Given the description of an element on the screen output the (x, y) to click on. 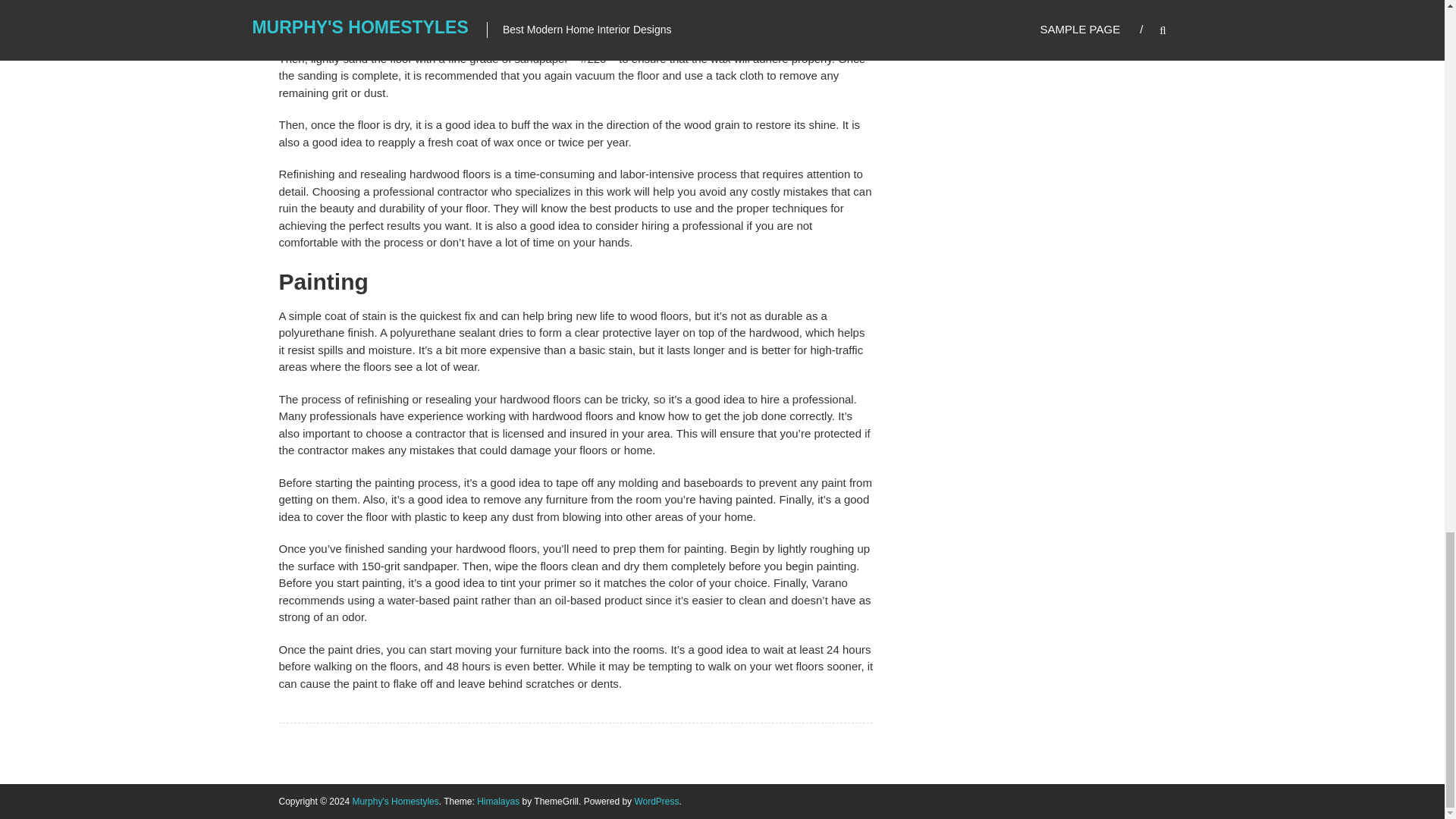
Murphy's Homestyles (395, 801)
Himalayas (498, 801)
Murphy's Homestyles (395, 801)
WordPress (655, 801)
WordPress (655, 801)
Himalayas (498, 801)
